Given the description of an element on the screen output the (x, y) to click on. 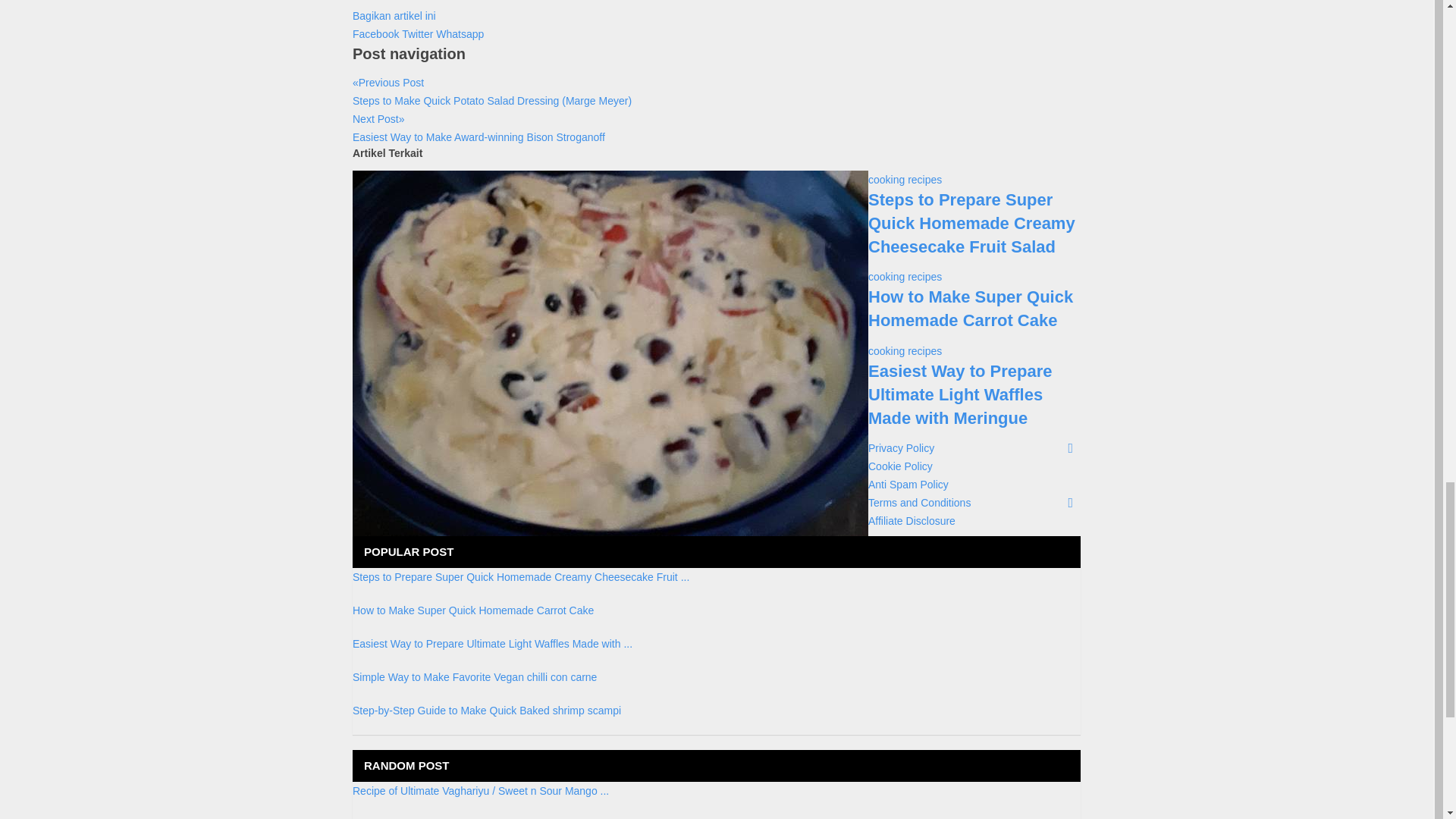
How to Make Super Quick Homemade Carrot Cake (473, 610)
cooking recipes (904, 179)
Bagikan ke Twitter (418, 33)
Bagikan ke Whatsapp (459, 33)
cooking recipes (904, 350)
cooking recipes (904, 276)
Bagikan ke Facebook (376, 33)
Twitter (418, 33)
Facebook (376, 33)
How to Make Super Quick Homemade Carrot Cake (970, 308)
How to Make Super Quick Homemade Carrot Cake (970, 308)
